Given the description of an element on the screen output the (x, y) to click on. 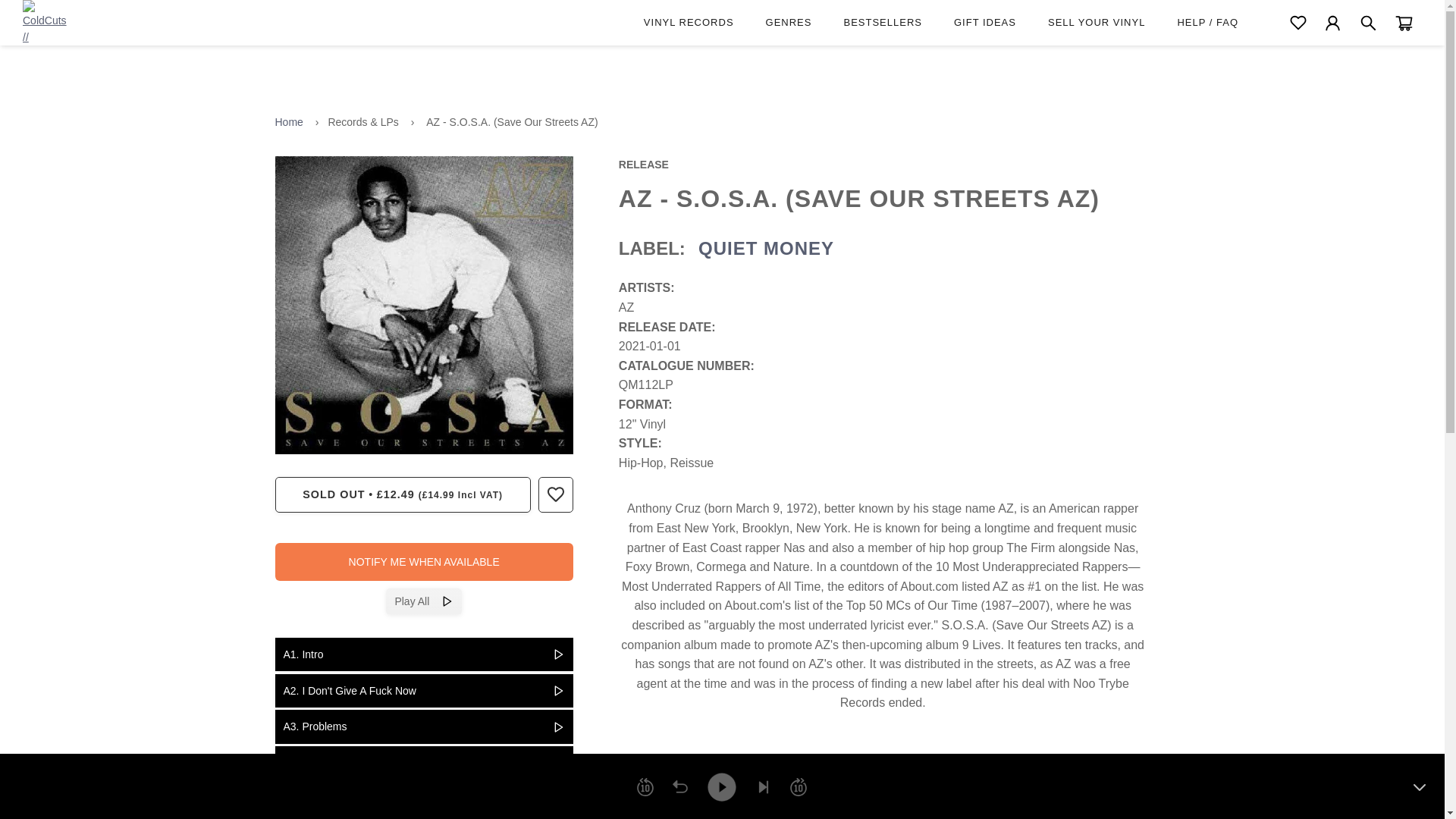
Add to wishlist (555, 494)
VINYL RECORDS (697, 22)
BESTSELLERS (891, 22)
GENRES (796, 22)
Next track (762, 786)
Fast forward 10s (797, 786)
Replay from start (679, 786)
Play (721, 786)
Go to shopping cart page (1404, 22)
Go to account page (1332, 22)
GIFT IDEAS (992, 22)
Go to wishlist page (1298, 22)
Open search bar (1367, 22)
Rewind 10s (644, 786)
